Given the description of an element on the screen output the (x, y) to click on. 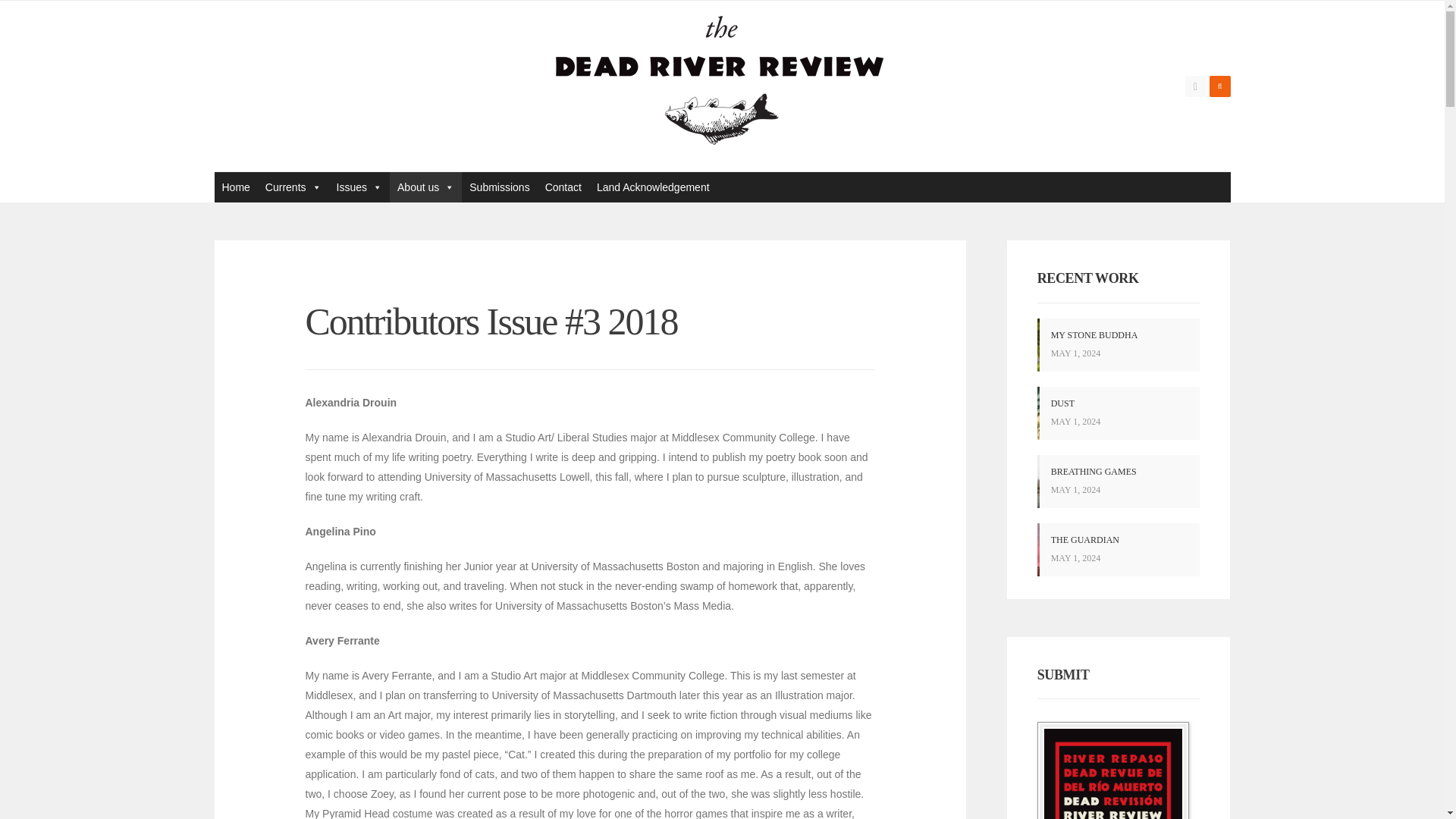
The Guardian (1085, 539)
My Stone Buddha (1117, 344)
Currents (293, 186)
Home (235, 186)
Home Page of Dead River Review (235, 186)
Facebook (1195, 86)
Dust (1117, 412)
My Stone Buddha (1094, 335)
breathing games (1094, 471)
The Guardian (1117, 549)
Issues (359, 186)
Dust (1062, 403)
breathing games (1117, 481)
About us (425, 186)
